Given the description of an element on the screen output the (x, y) to click on. 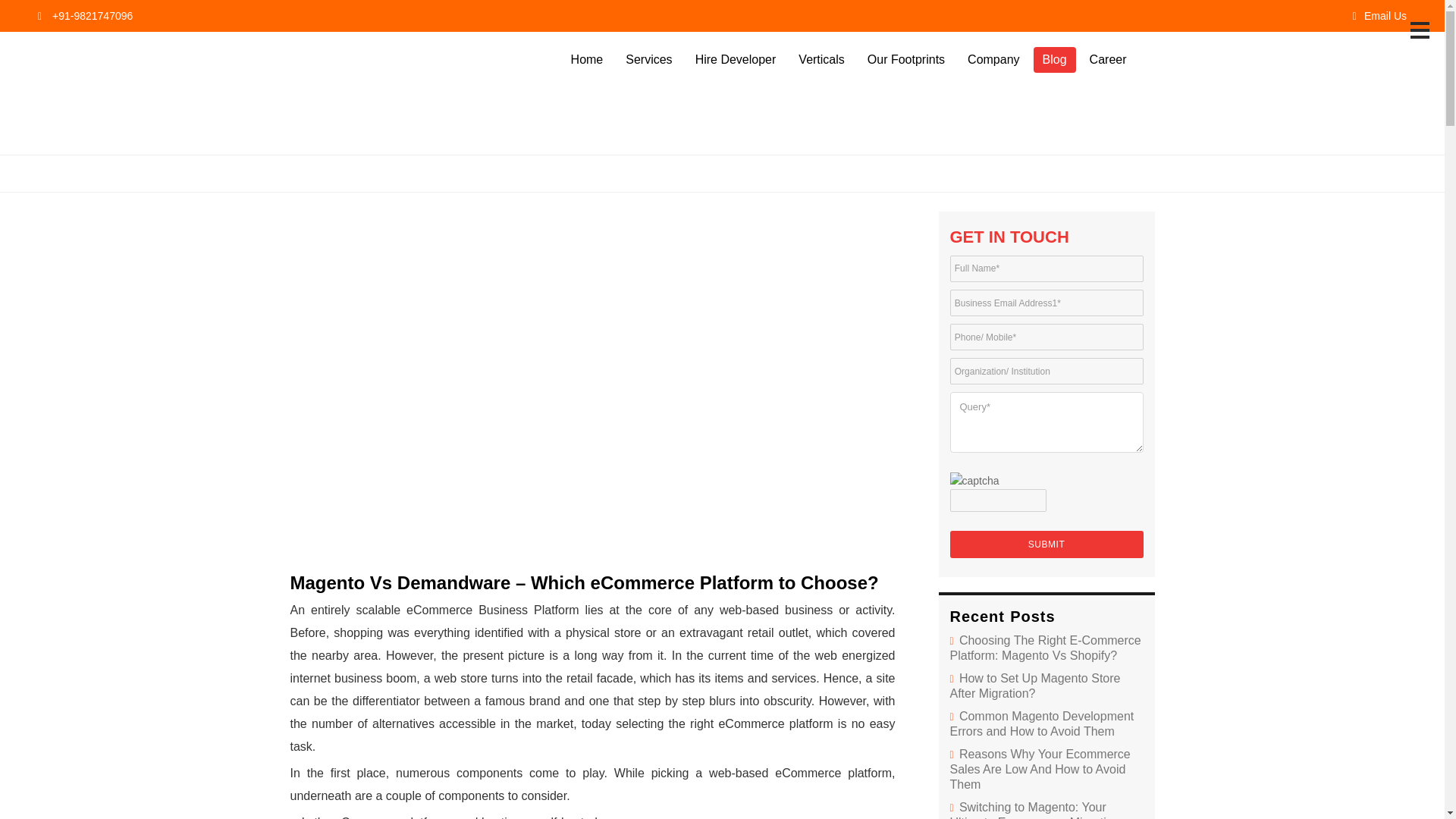
Submit (1045, 543)
Services (648, 59)
Hire Developer (735, 59)
Verticals (821, 59)
Email Us (1379, 15)
Blog (1054, 59)
Our Footprints (906, 59)
Company (992, 59)
Home (587, 59)
Career (1107, 59)
